Given the description of an element on the screen output the (x, y) to click on. 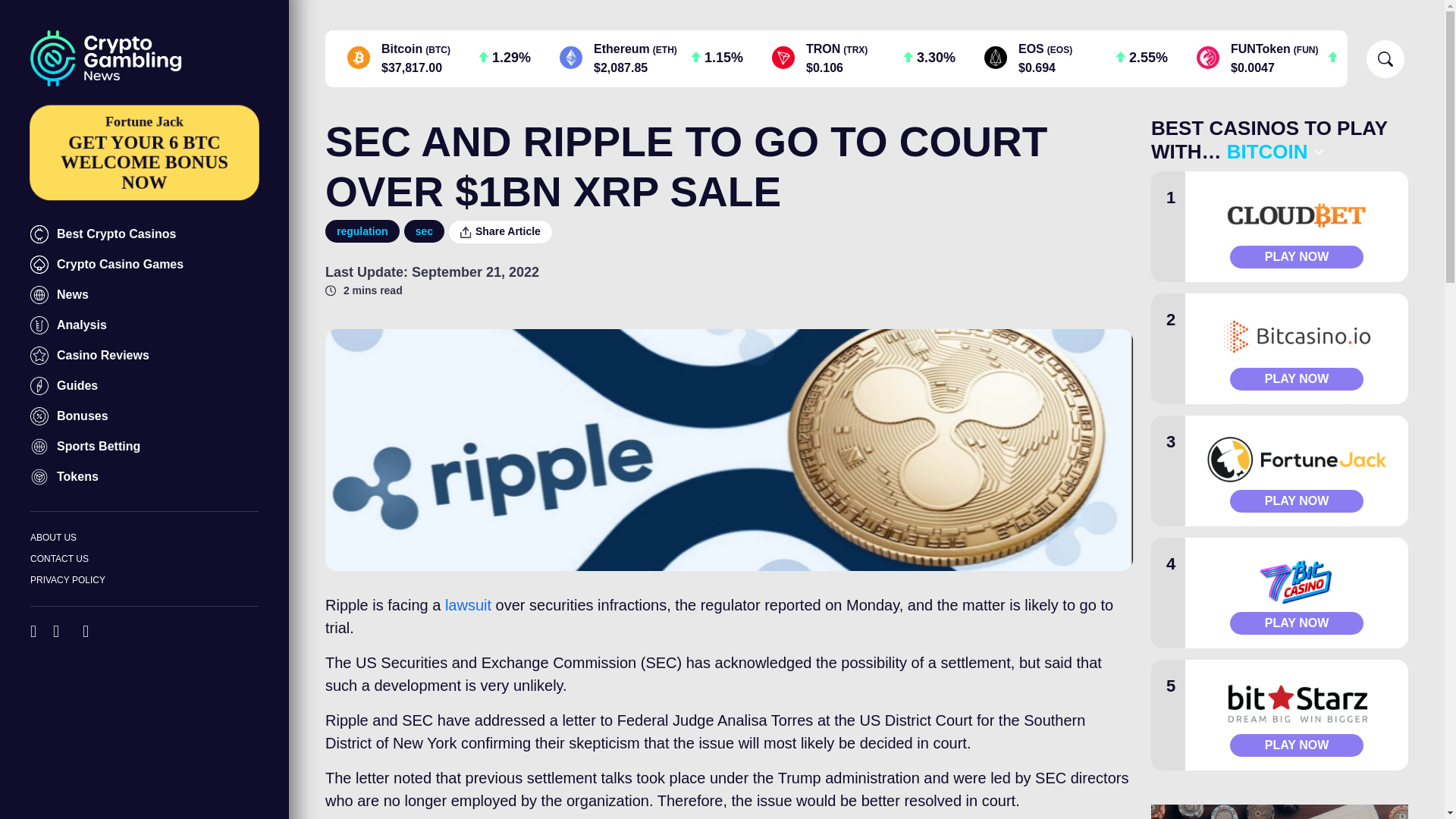
News (143, 152)
Analysis (144, 295)
Bonuses (144, 325)
Best Crypto Casinos (144, 416)
Crypto Casino Games (144, 234)
Skip to content (144, 264)
Guides (9, 4)
Best Crypto Casinos (144, 386)
Crypto Casino Games (144, 234)
Casino Reviews (144, 264)
